Given the description of an element on the screen output the (x, y) to click on. 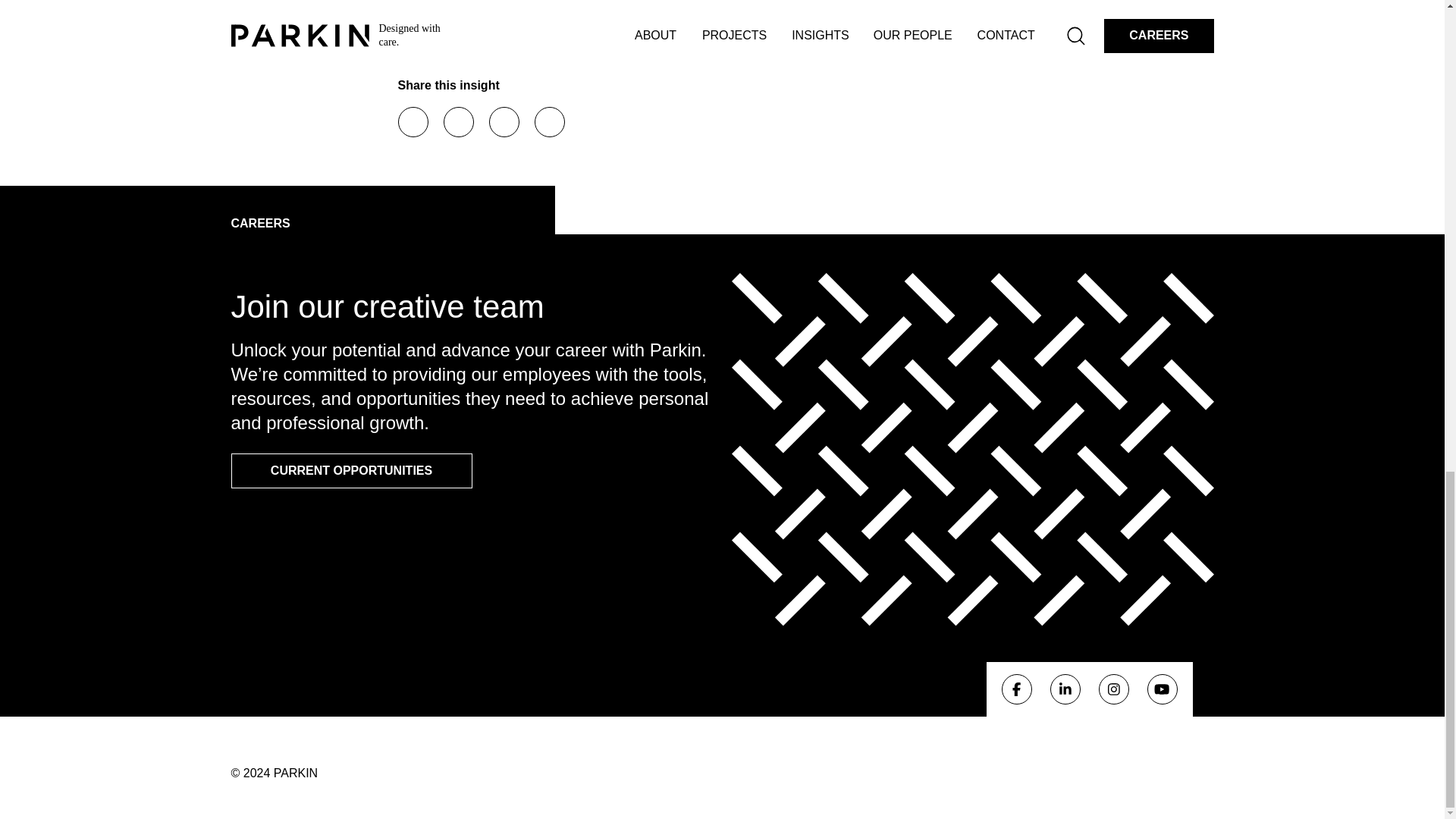
Facebook (412, 122)
LinkedIn (457, 122)
Youtube (1161, 689)
Youtube (1161, 689)
Instagram (1112, 689)
Email (502, 122)
Linked-In (1064, 689)
Facebook (1015, 689)
CURRENT OPPORTUNITIES (350, 470)
